Given the description of an element on the screen output the (x, y) to click on. 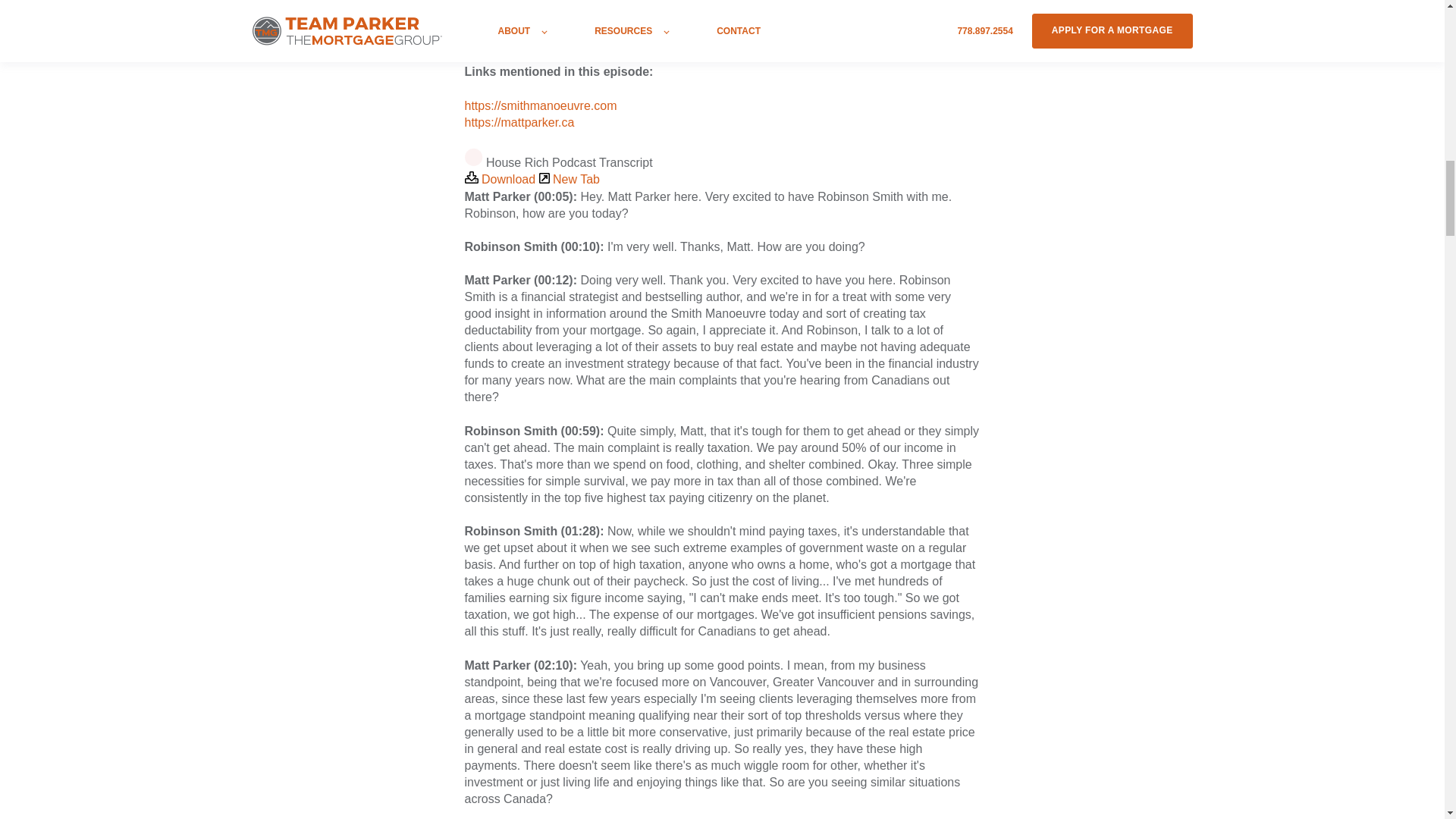
New Tab (568, 178)
Download (501, 178)
